Given the description of an element on the screen output the (x, y) to click on. 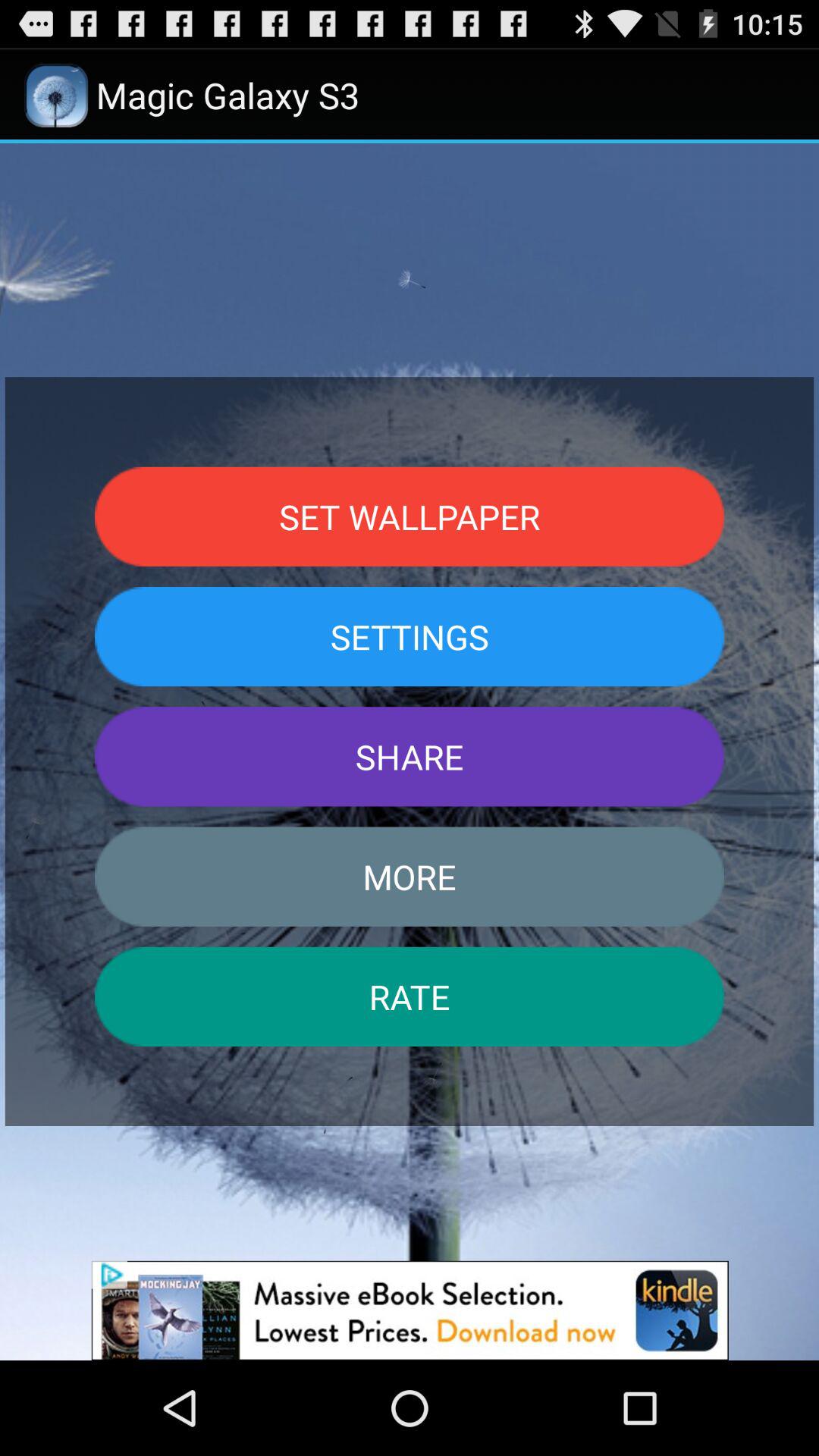
select icon below more (409, 996)
